Given the description of an element on the screen output the (x, y) to click on. 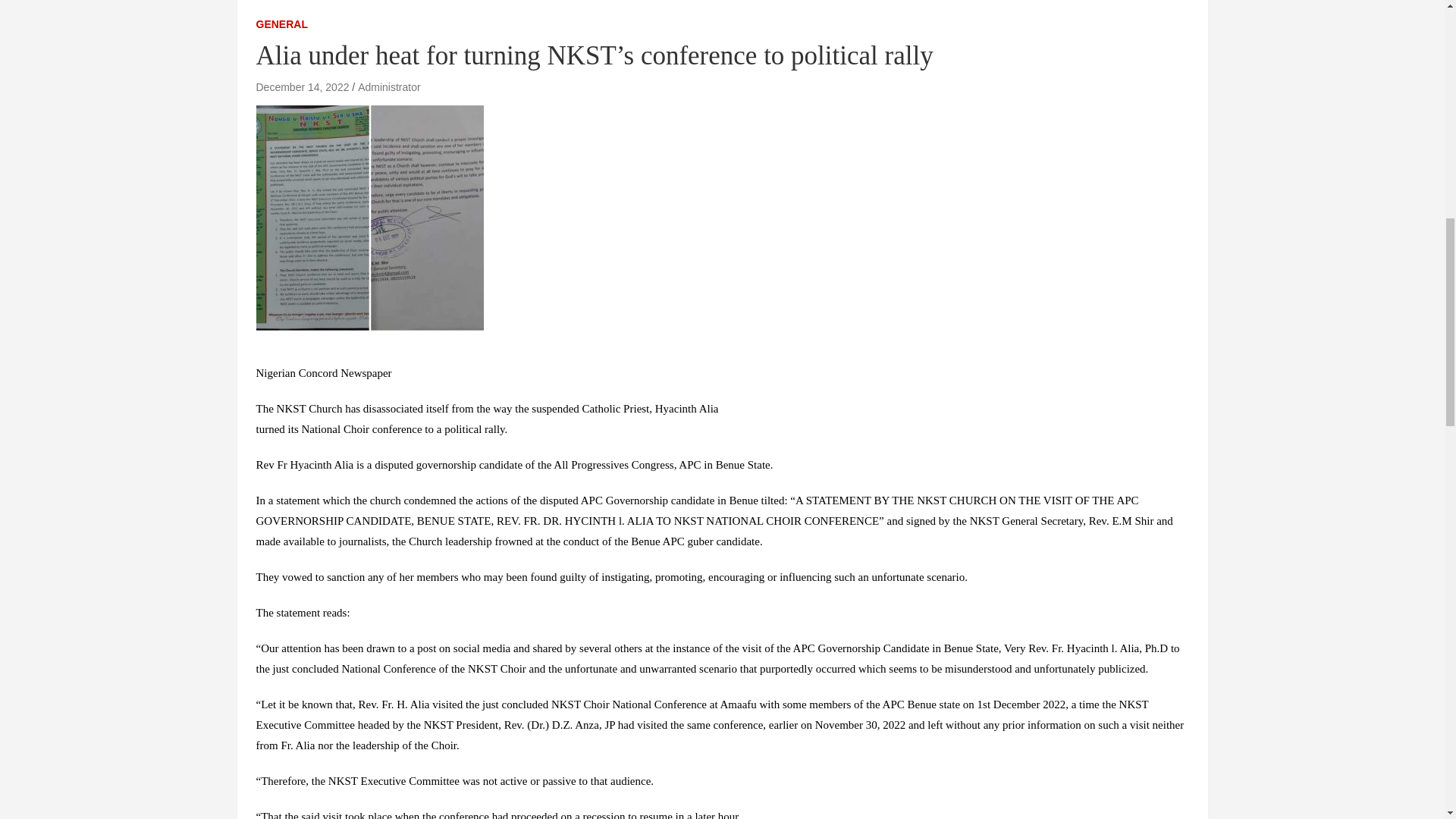
GENERAL (281, 24)
December 14, 2022 (302, 87)
Administrator (389, 87)
